Given the description of an element on the screen output the (x, y) to click on. 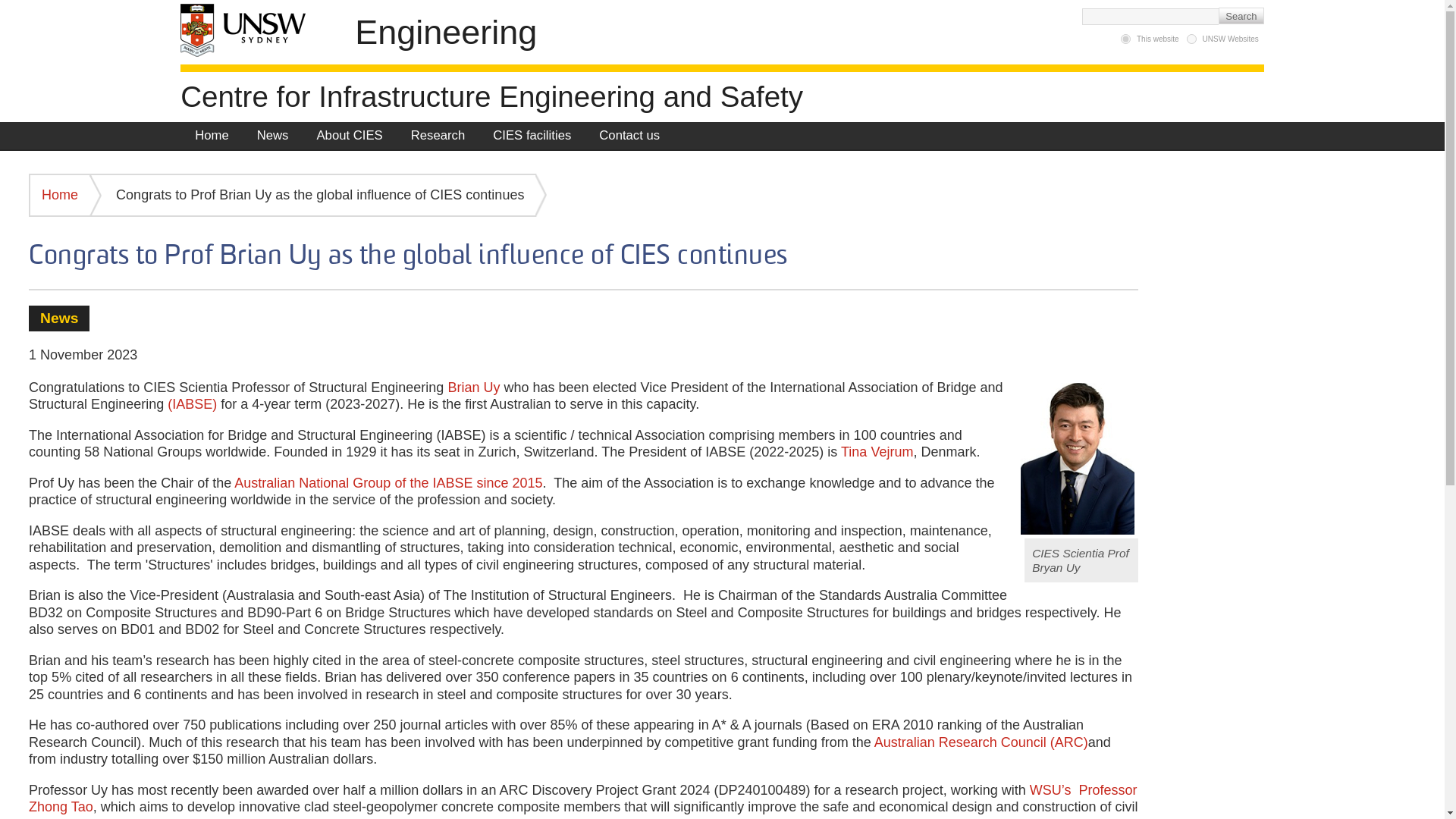
CIES Research (437, 135)
Engineering (446, 32)
Enter the terms you wish to search for. (1149, 15)
Home (211, 135)
UNSW Australia (250, 30)
Centre for Infrastructure Engineering and Safety (491, 96)
1 (1126, 39)
News (272, 135)
About CIES (348, 135)
Search (1240, 15)
Home (491, 96)
Search (1240, 15)
Faculty of Engineering (446, 32)
0 (1191, 39)
